Given the description of an element on the screen output the (x, y) to click on. 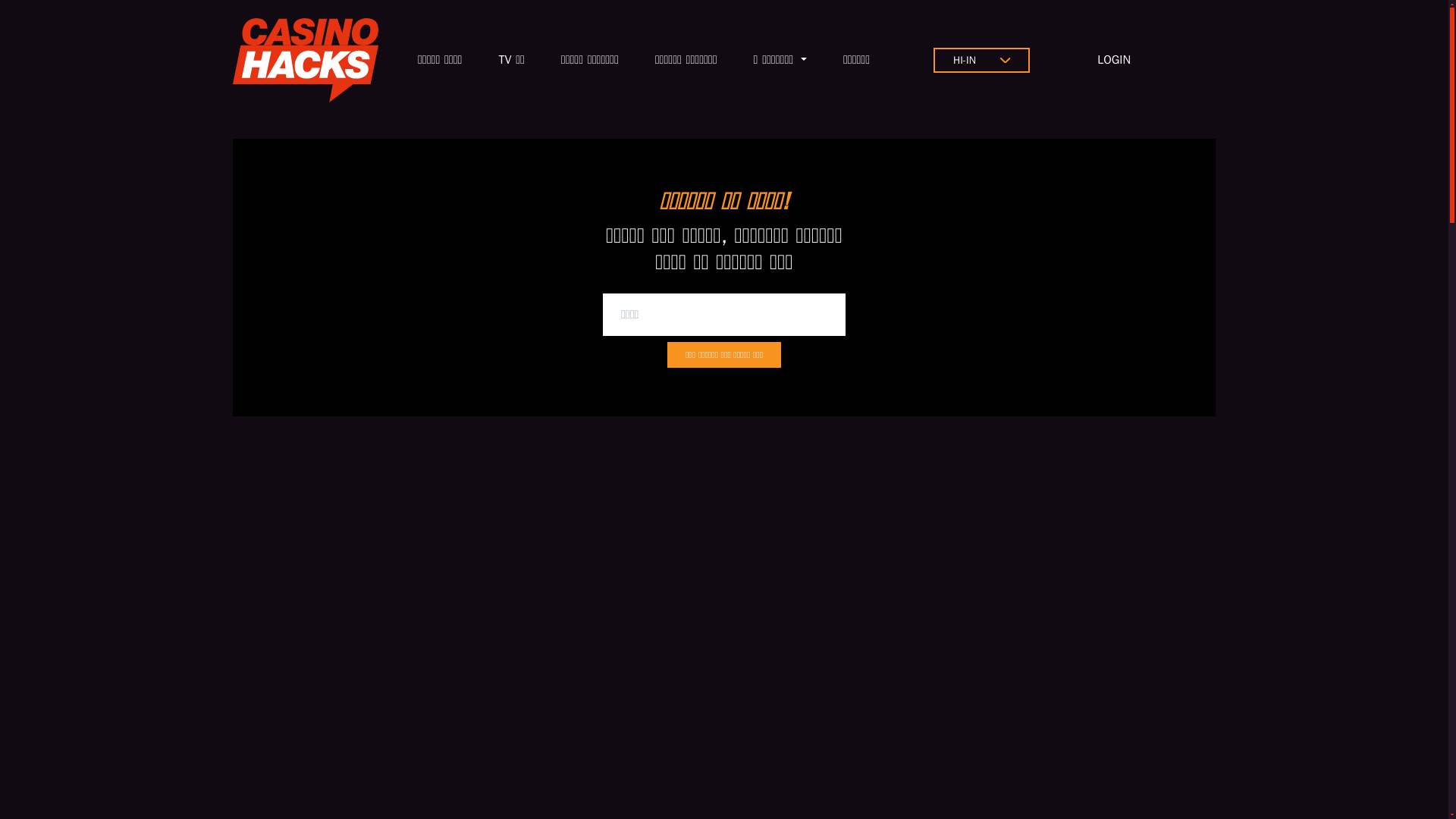
LOGIN (1114, 59)
LOGIN (1114, 59)
HI-IN (964, 59)
Casino Hacks (305, 60)
IS (964, 59)
